Given the description of an element on the screen output the (x, y) to click on. 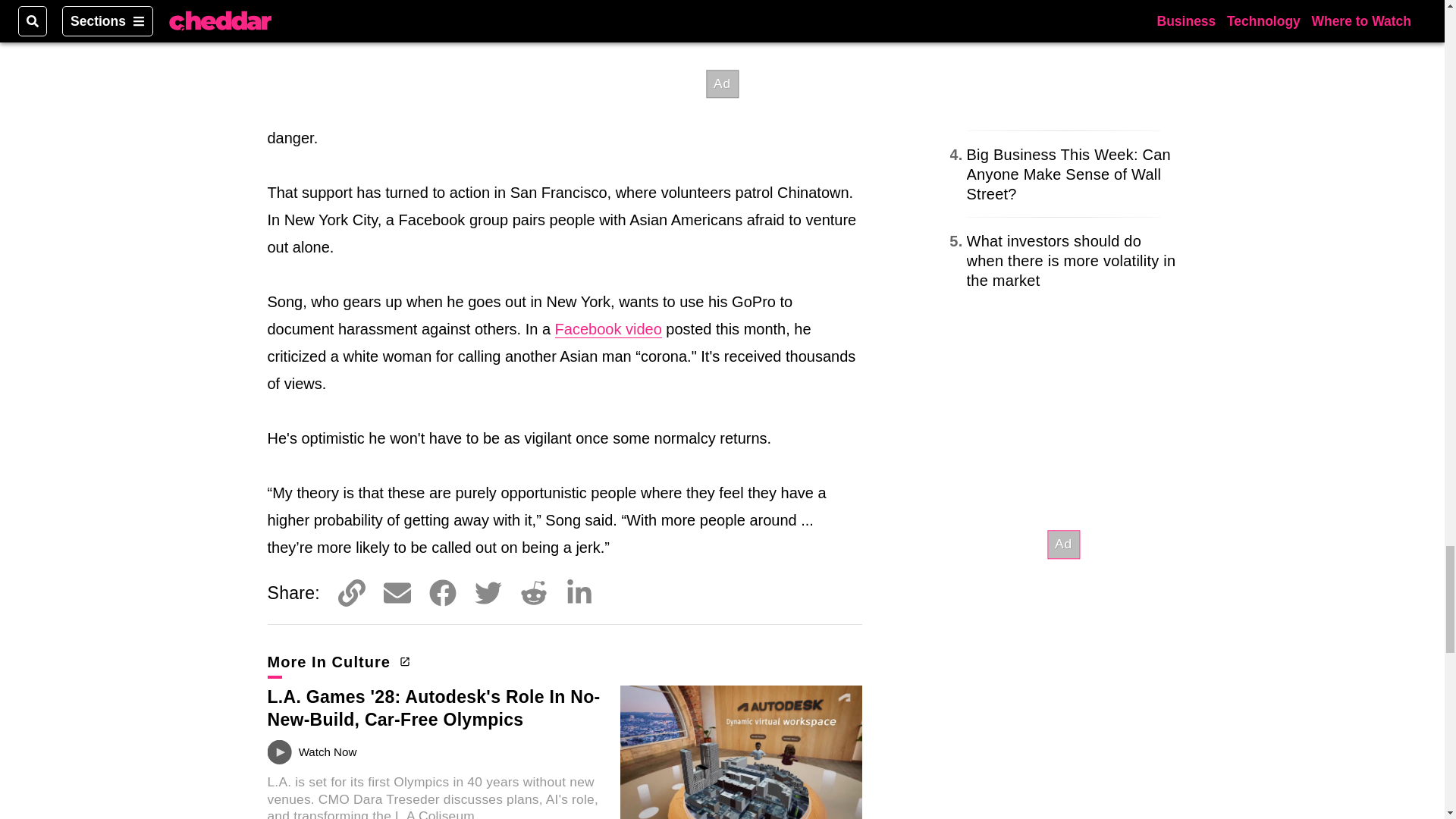
Facebook video (608, 329)
More In Culture (336, 661)
